Given the description of an element on the screen output the (x, y) to click on. 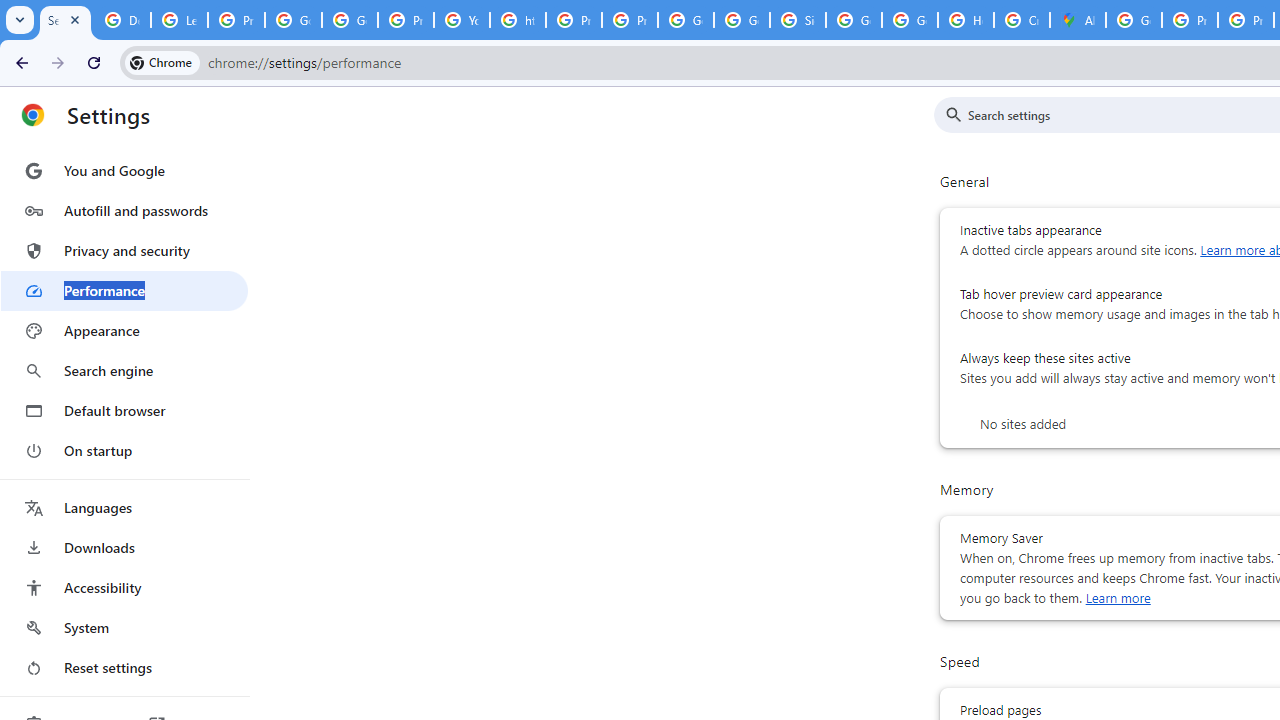
Google Account Help (293, 20)
Privacy and security (124, 250)
Delete photos & videos - Computer - Google Photos Help (122, 20)
Reset settings (124, 668)
You and Google (124, 170)
Performance (124, 290)
https://scholar.google.com/ (518, 20)
